Given the description of an element on the screen output the (x, y) to click on. 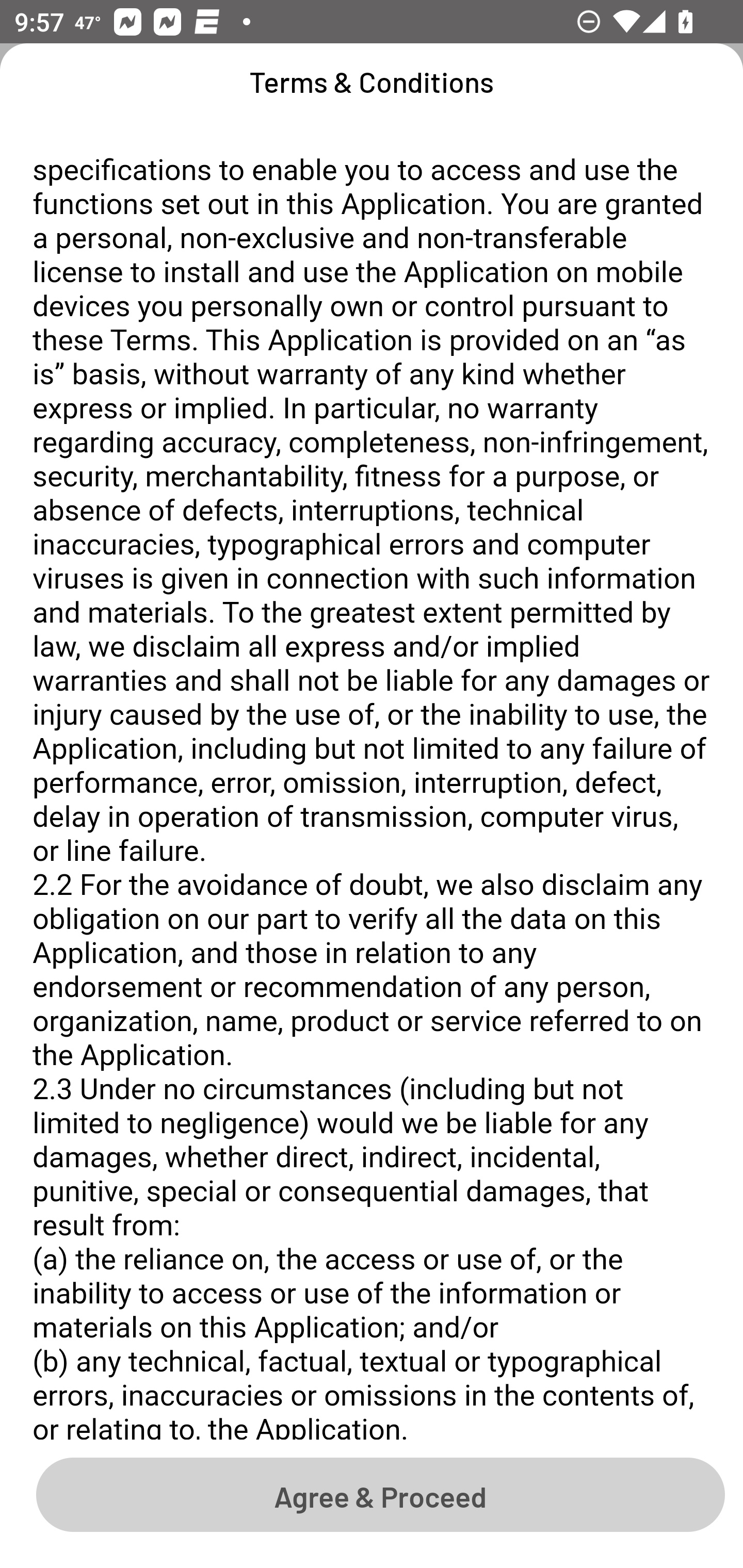
Agree & Proceed (380, 1494)
